Given the description of an element on the screen output the (x, y) to click on. 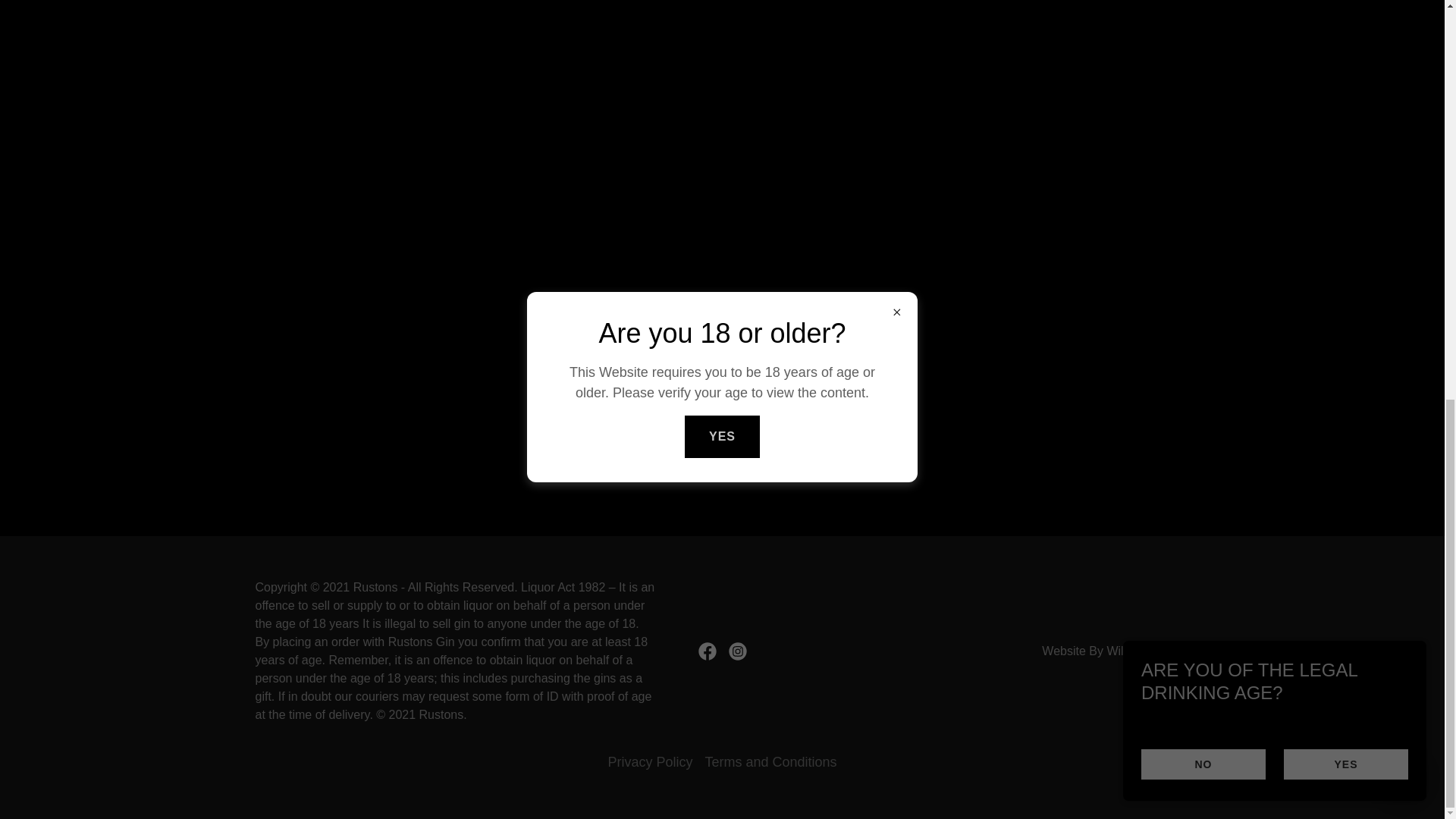
Terms and Conditions (770, 762)
Privacy Policy (649, 762)
